Given the description of an element on the screen output the (x, y) to click on. 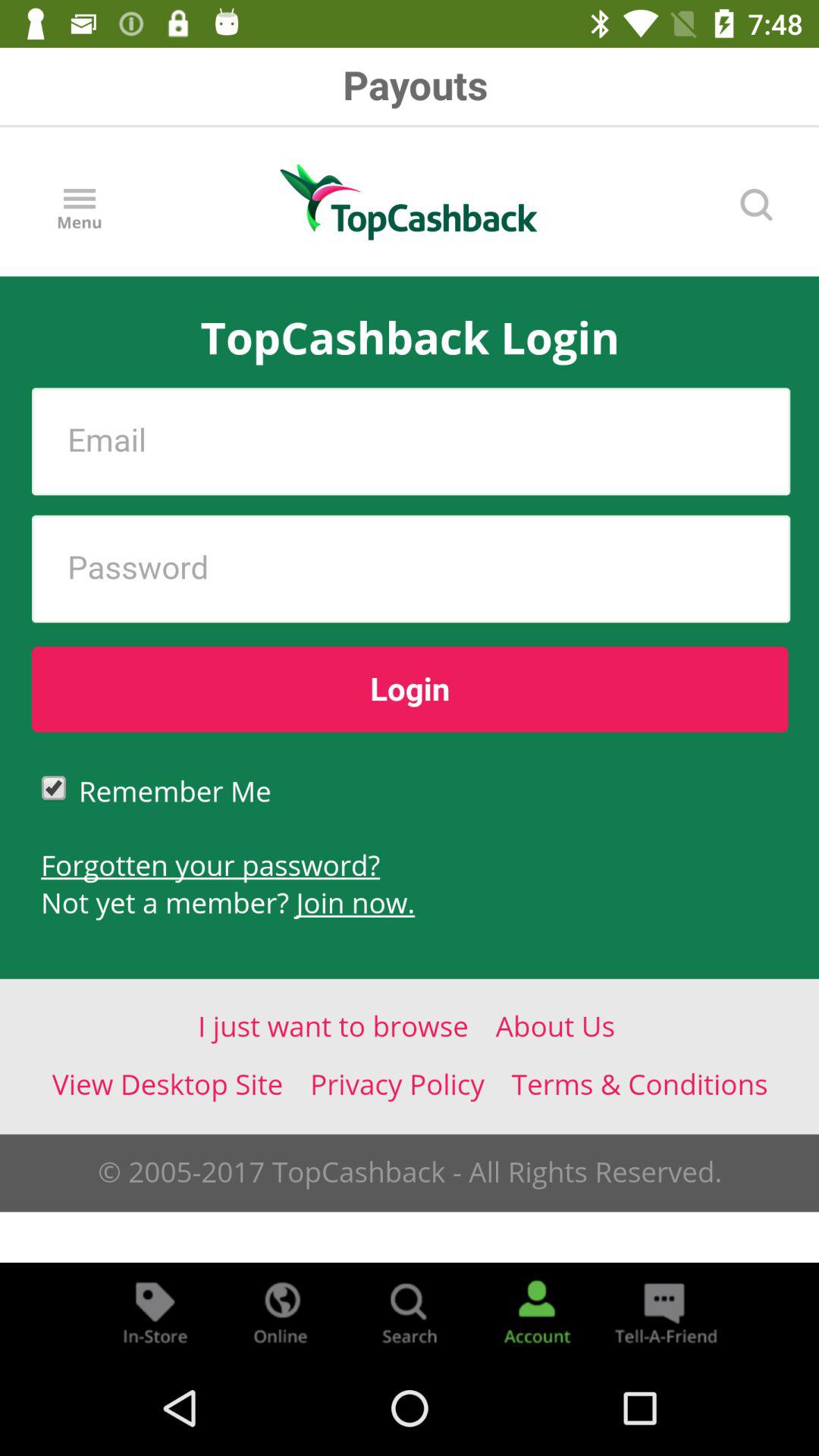
in-store tab (154, 1311)
